Given the description of an element on the screen output the (x, y) to click on. 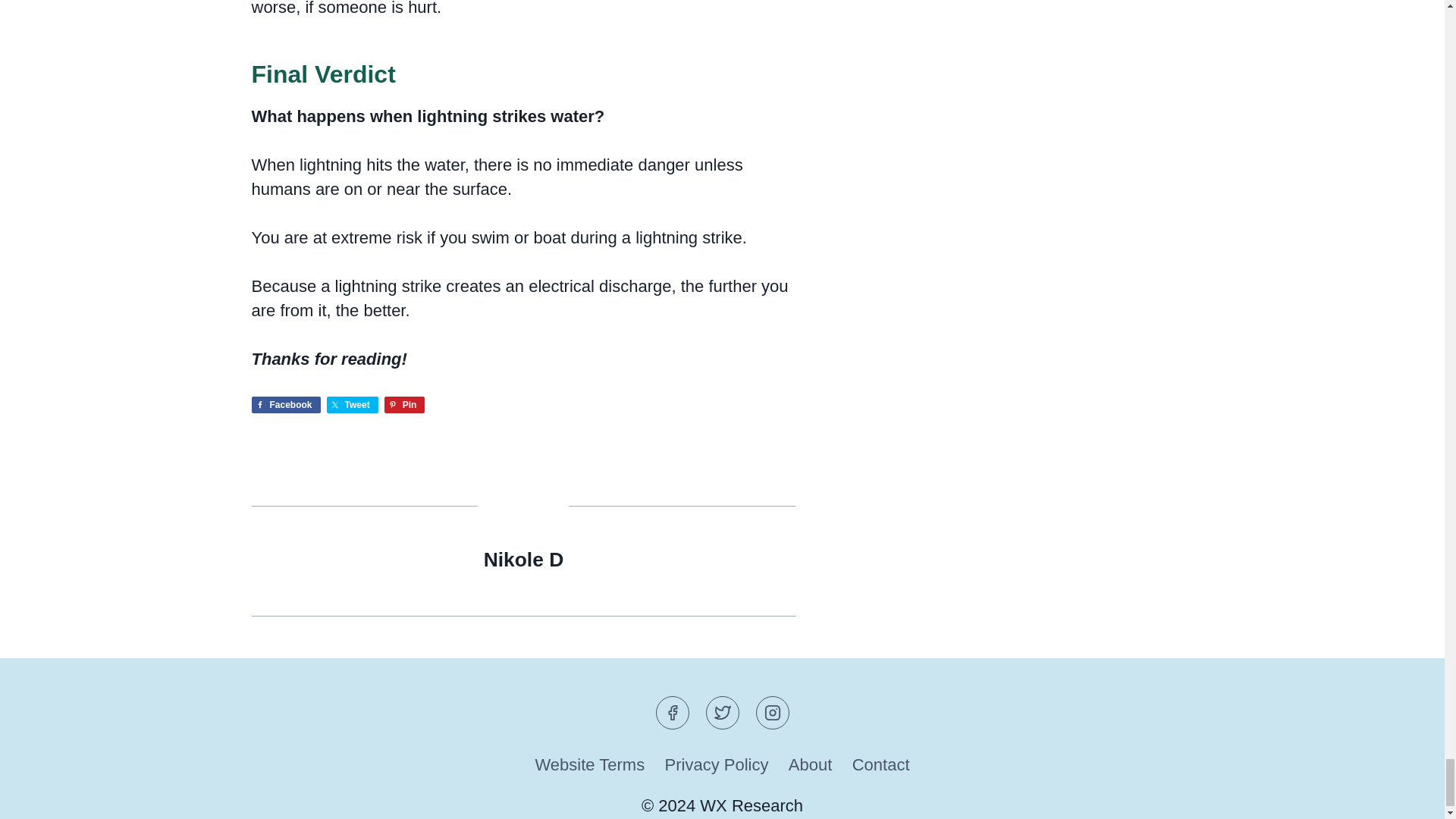
Website Terms (588, 765)
Contact (881, 765)
Share on Pinterest (404, 404)
Privacy Policy (715, 765)
Posts by Nikole D (523, 558)
Share on Facebook (285, 404)
Share on Twitter (352, 404)
Facebook (285, 404)
About (810, 765)
Tweet (352, 404)
Pin (404, 404)
Nikole D (523, 558)
